Given the description of an element on the screen output the (x, y) to click on. 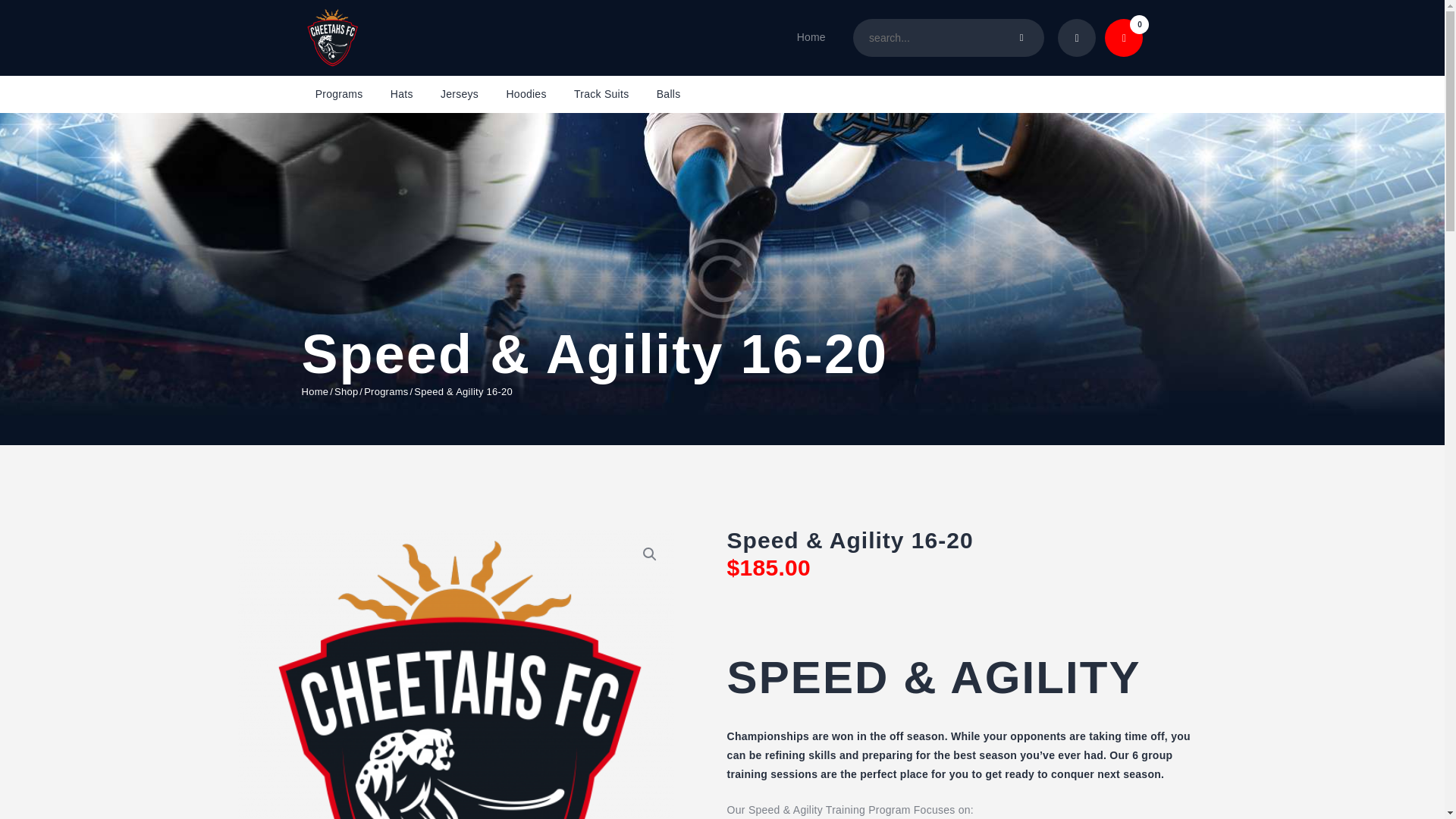
Hats (401, 94)
Jerseys (459, 94)
Track Suits (601, 94)
Hoodies (526, 94)
Home (315, 391)
Home (810, 37)
Shop (346, 391)
Programs (339, 94)
Programs (385, 391)
Balls (668, 94)
cropped-cropped-cropped-Logo-Transparent-1.png (456, 674)
